Given the description of an element on the screen output the (x, y) to click on. 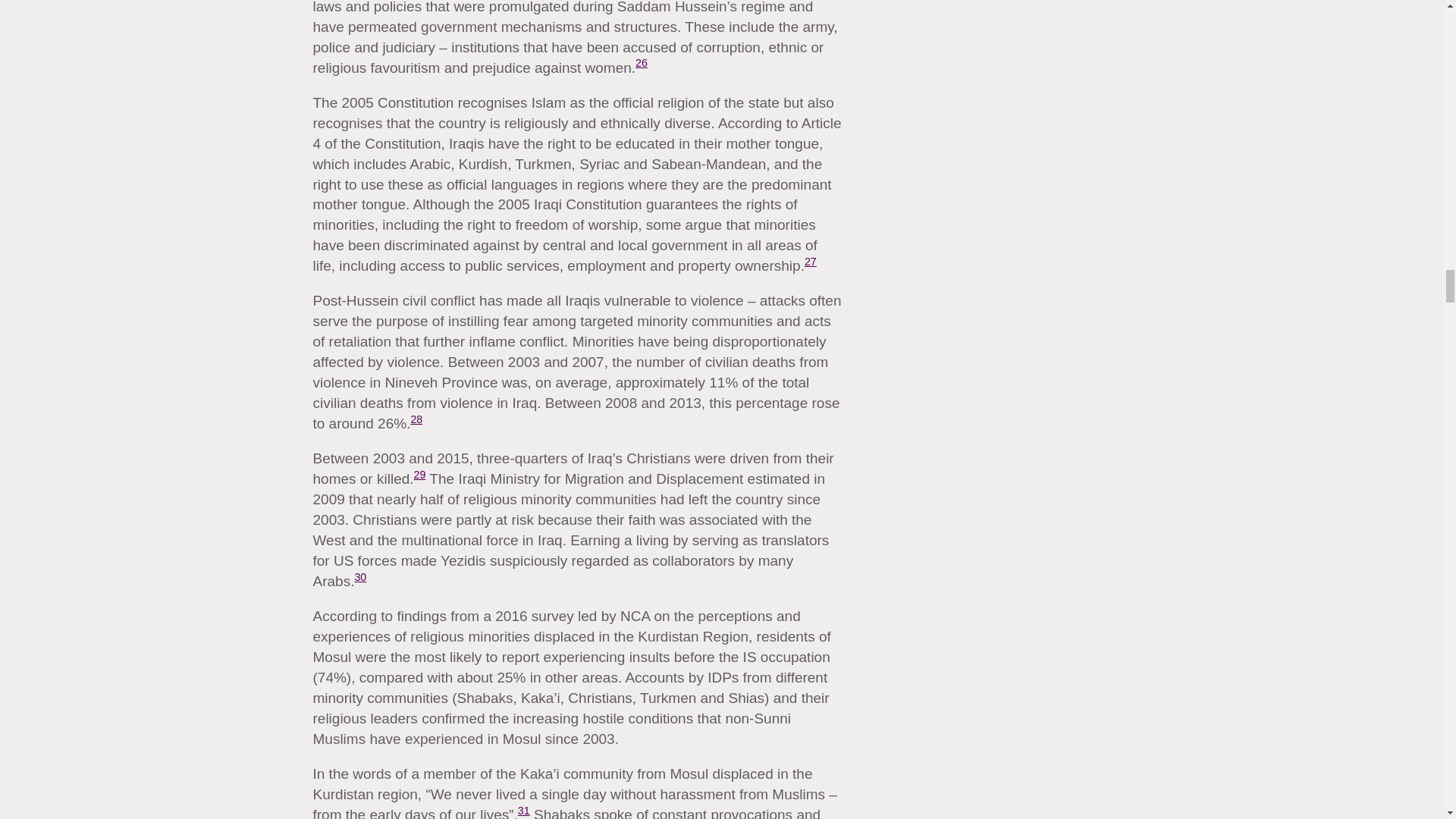
26 (640, 62)
27 (810, 261)
29 (419, 474)
31 (523, 810)
30 (359, 576)
28 (416, 419)
